Given the description of an element on the screen output the (x, y) to click on. 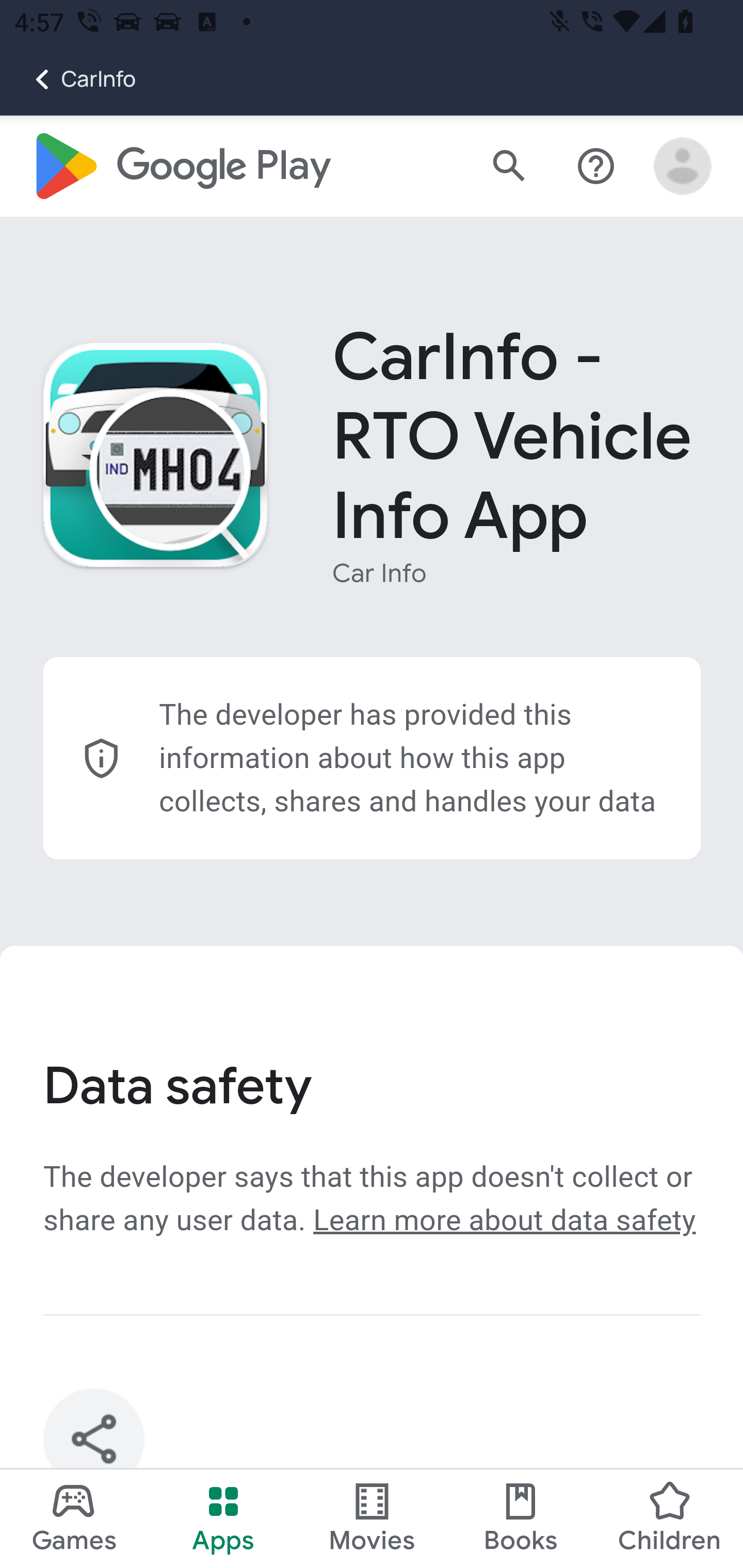
CarInfo (67, 79)
Google Play logo (180, 166)
Search (508, 166)
Help centre (596, 166)
Open account menu (682, 166)
Games (74, 1518)
Apps (222, 1518)
Movies (372, 1518)
Books (520, 1518)
Children (668, 1518)
